Given the description of an element on the screen output the (x, y) to click on. 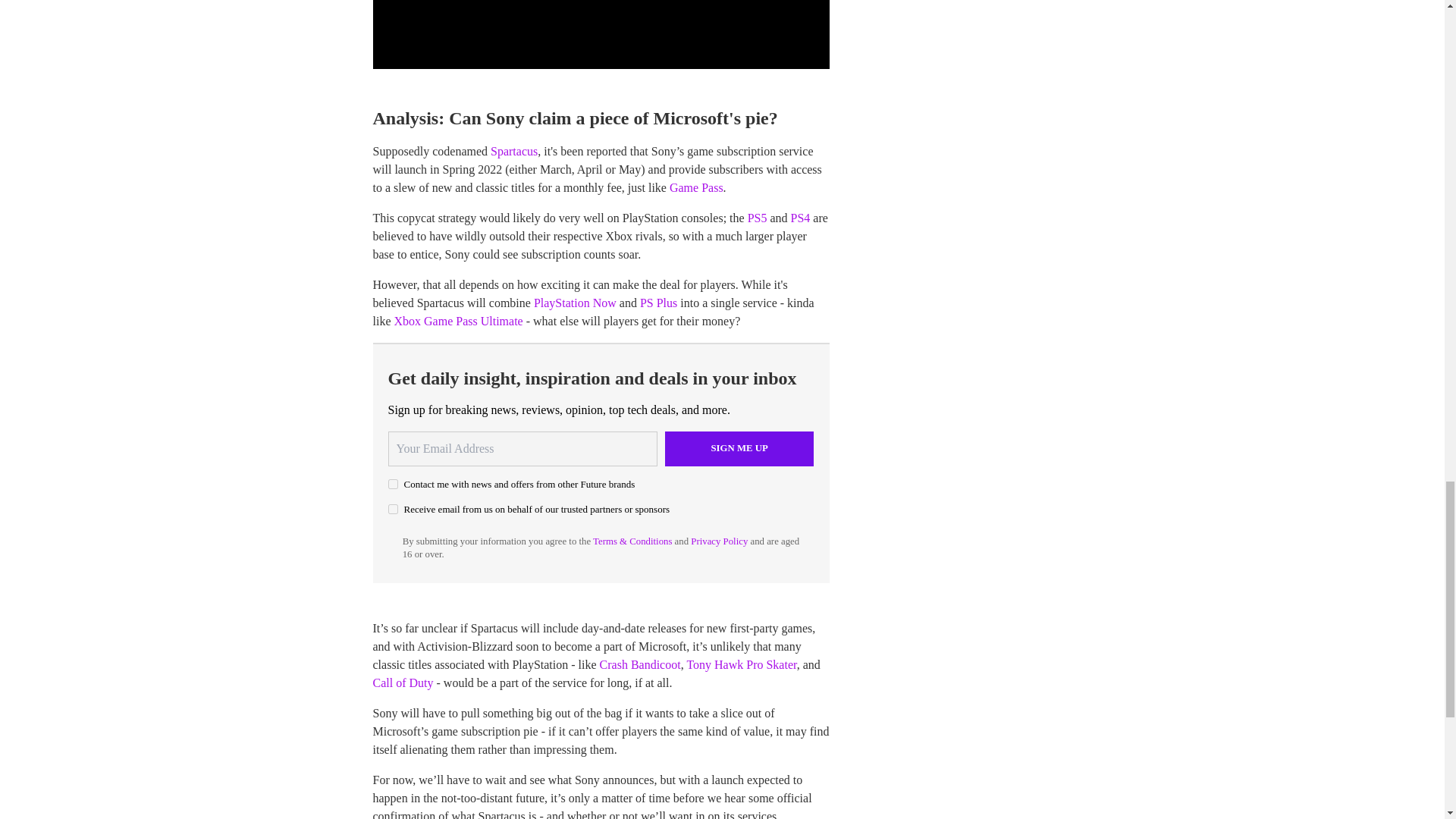
on (392, 483)
Sign me up (739, 448)
on (392, 509)
